Given the description of an element on the screen output the (x, y) to click on. 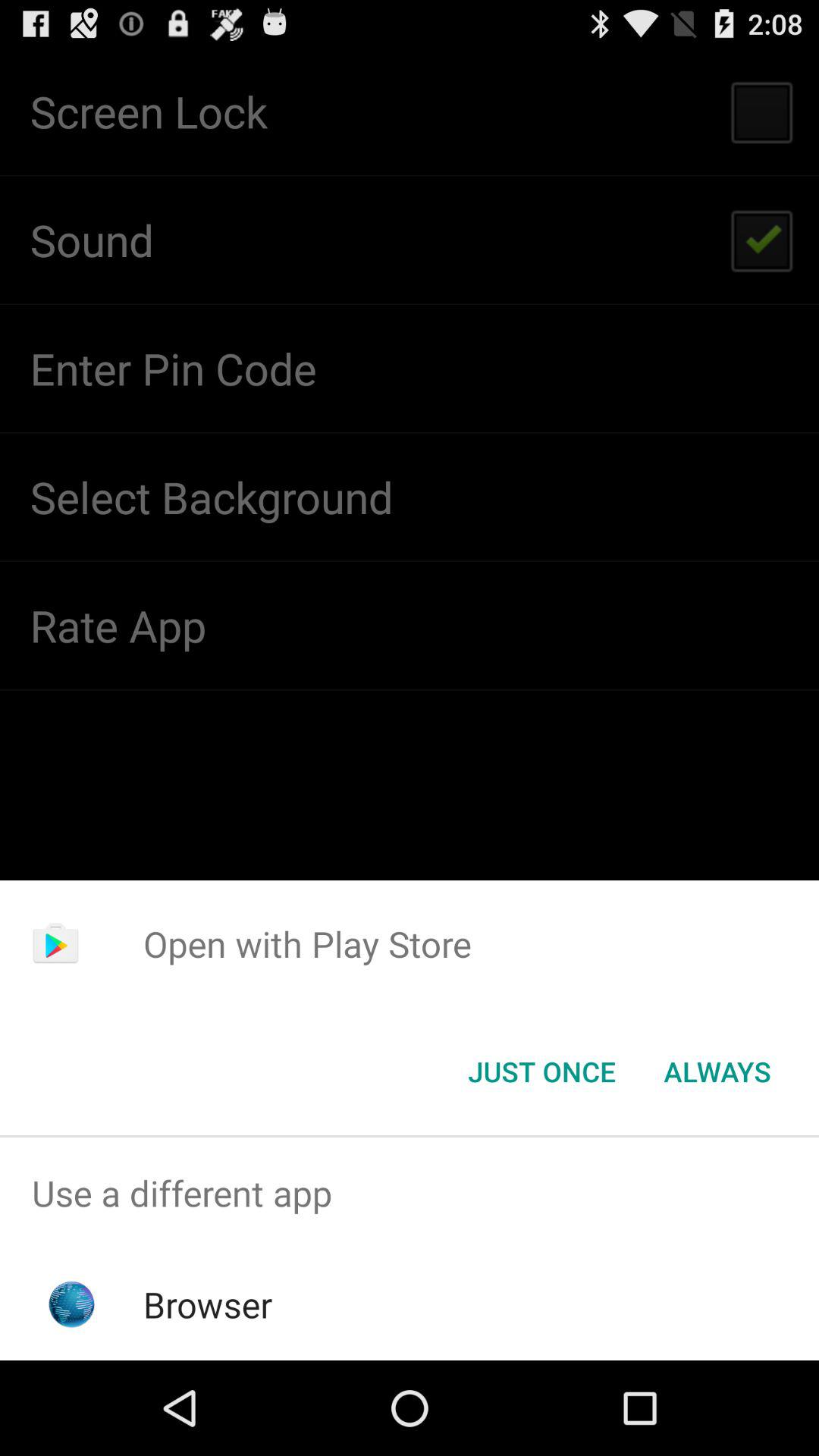
click item to the left of always icon (541, 1071)
